Given the description of an element on the screen output the (x, y) to click on. 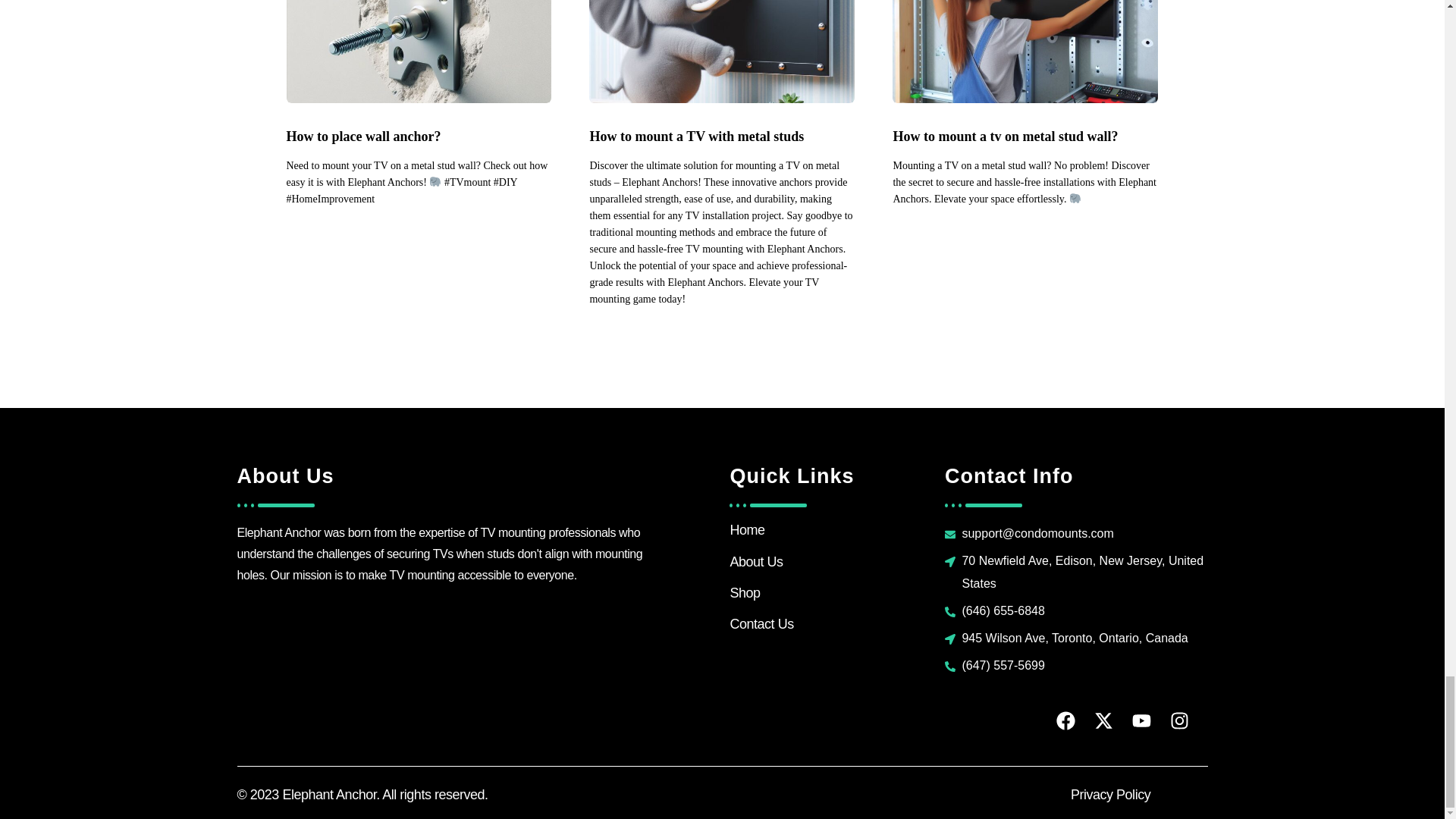
Home (746, 529)
How to mount a TV with metal studs (721, 137)
Shop (744, 592)
 View Post: How to mount a tv on metal stud wall? (1024, 51)
About Us (756, 561)
Privacy Policy (1110, 794)
Contact Us (761, 623)
View Post: How to place wall anchor?  (418, 137)
 View Post: How to mount a TV with metal studs (721, 51)
How to place wall anchor? (418, 137)
View Post: How to mount a TV with metal studs  (721, 137)
View Post: How to mount a tv on metal stud wall?  (1024, 137)
 View Post: How to place wall anchor? (418, 51)
How to mount a tv on metal stud wall? (1024, 137)
